Given the description of an element on the screen output the (x, y) to click on. 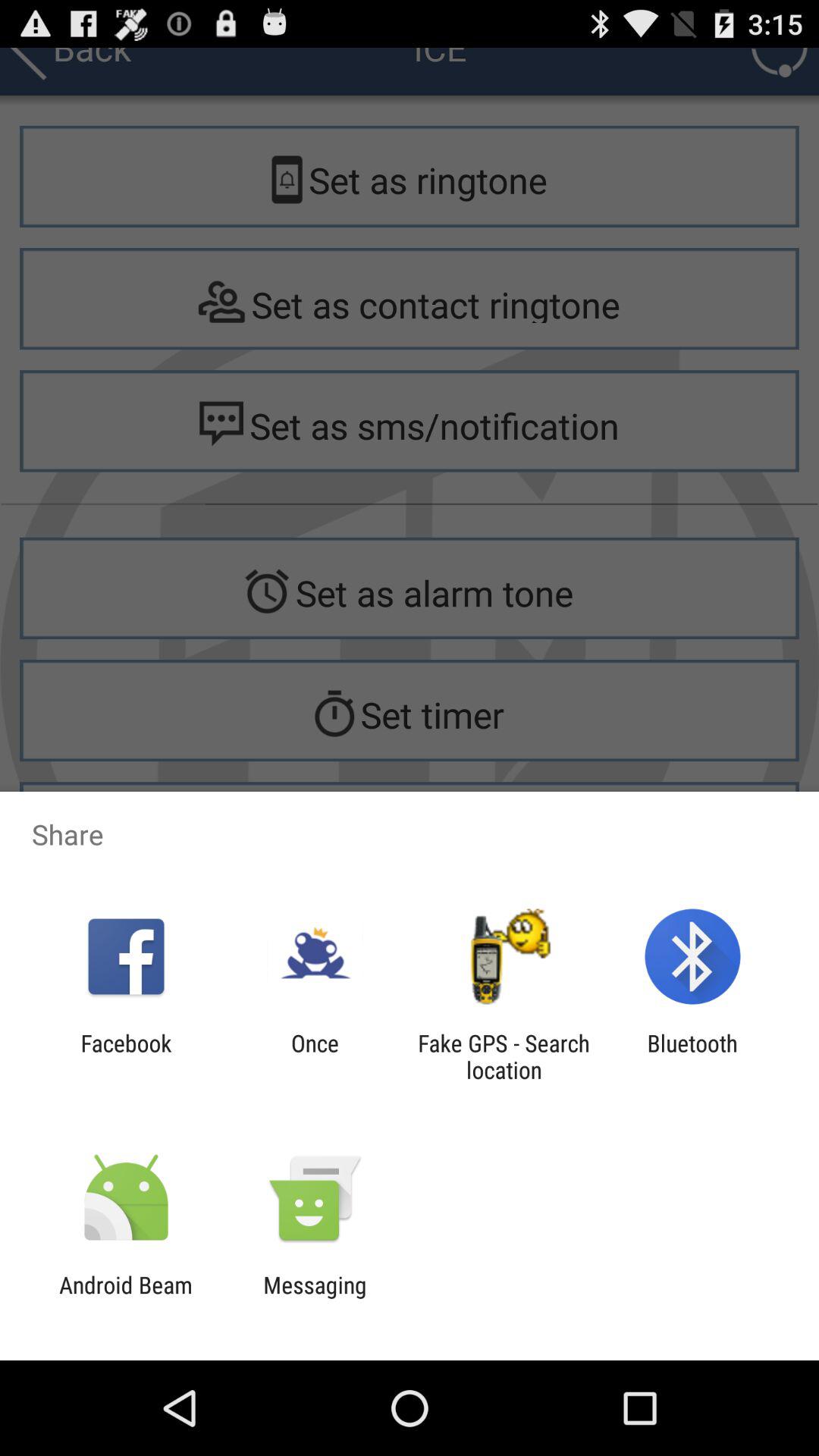
choose icon next to android beam icon (314, 1298)
